Given the description of an element on the screen output the (x, y) to click on. 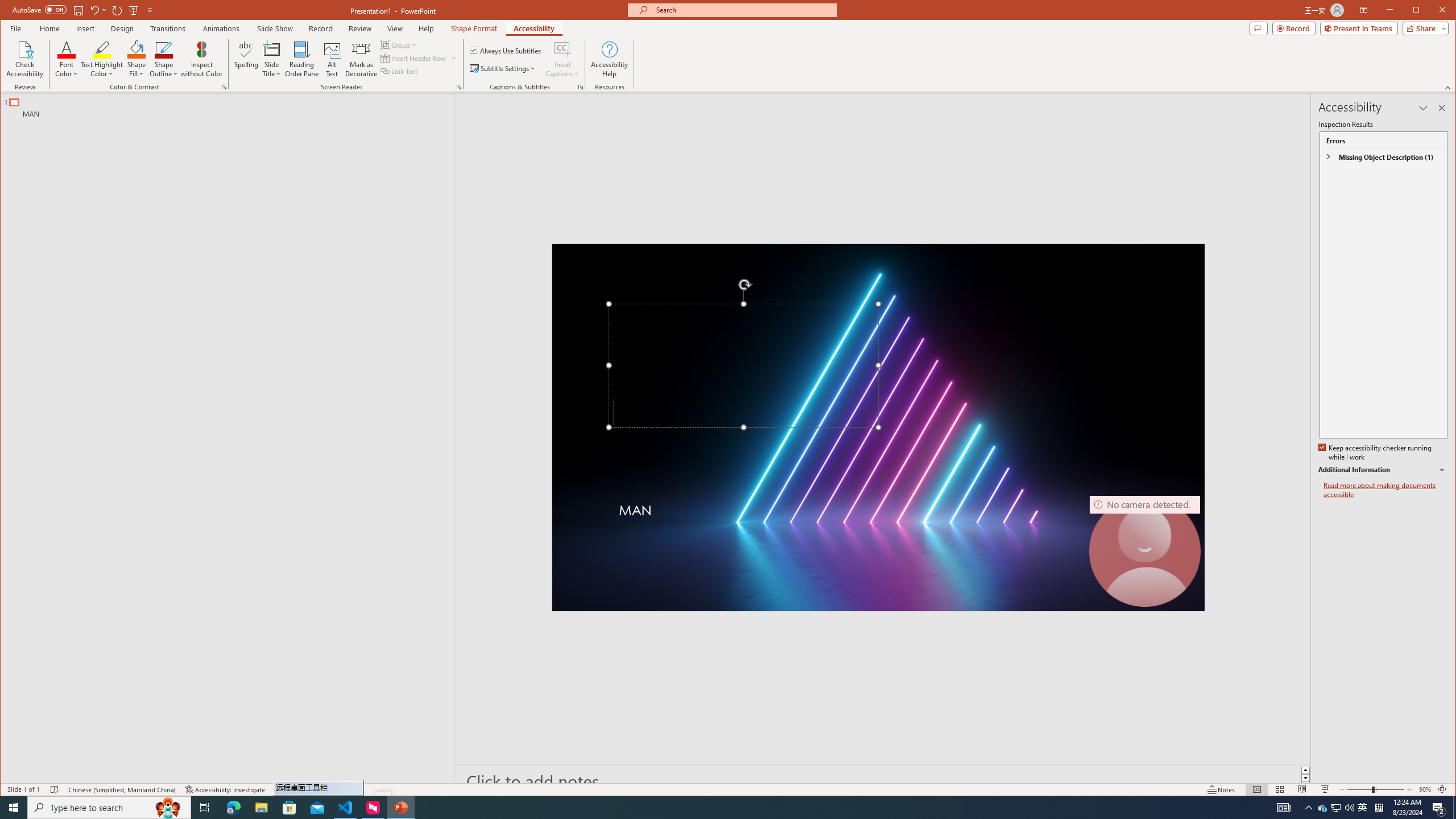
Shape Outline (163, 59)
Keep accessibility checker running while I work (1375, 452)
Screen Reader (458, 86)
Insert Header Row (413, 57)
Inspect without Color (201, 59)
